Given the description of an element on the screen output the (x, y) to click on. 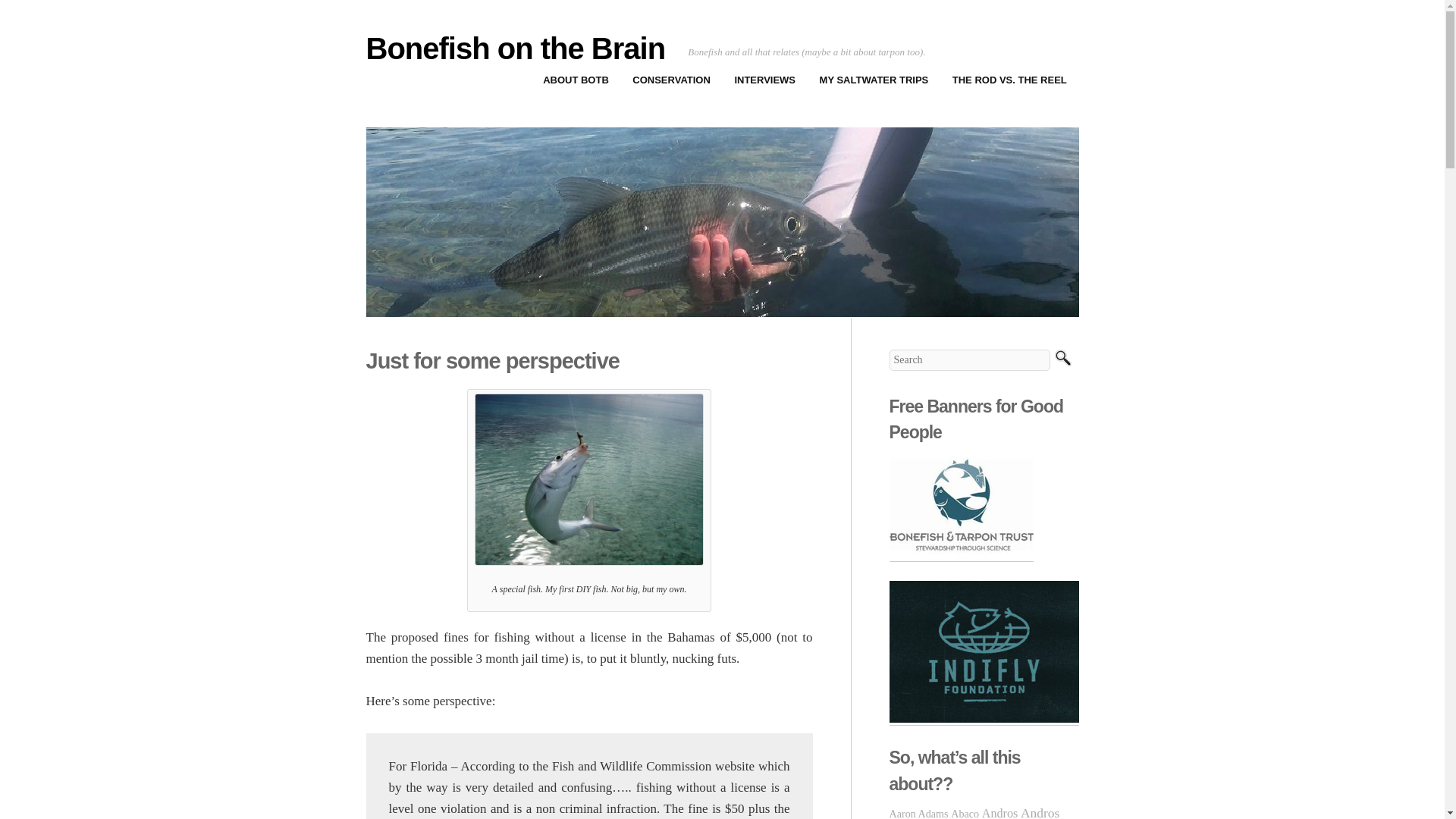
THE ROD VS. THE REEL (1009, 79)
Search (1061, 359)
ABOUT BOTB (575, 79)
INTERVIEWS (765, 79)
Bonefish on the Brain (515, 48)
MY SALTWATER TRIPS (874, 79)
Bonefish on the Brain (515, 48)
CONSERVATION (671, 79)
